Given the description of an element on the screen output the (x, y) to click on. 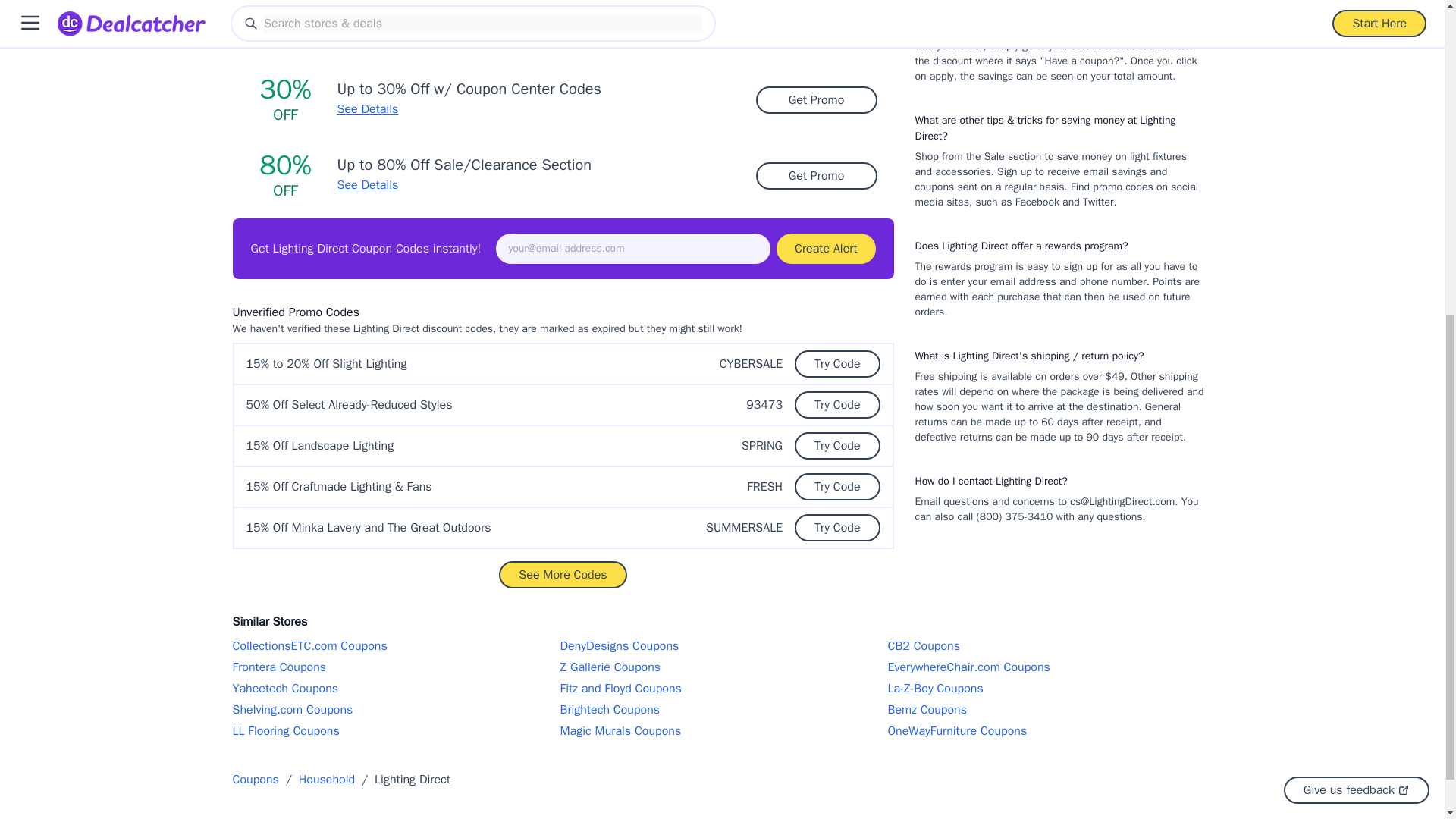
Create Alert (825, 248)
Frontera Coupons (393, 667)
CB2 Coupons (1048, 646)
CollectionsETC.com Coupons (393, 646)
See More Codes (562, 574)
DenyDesigns Coupons (721, 646)
